Given the description of an element on the screen output the (x, y) to click on. 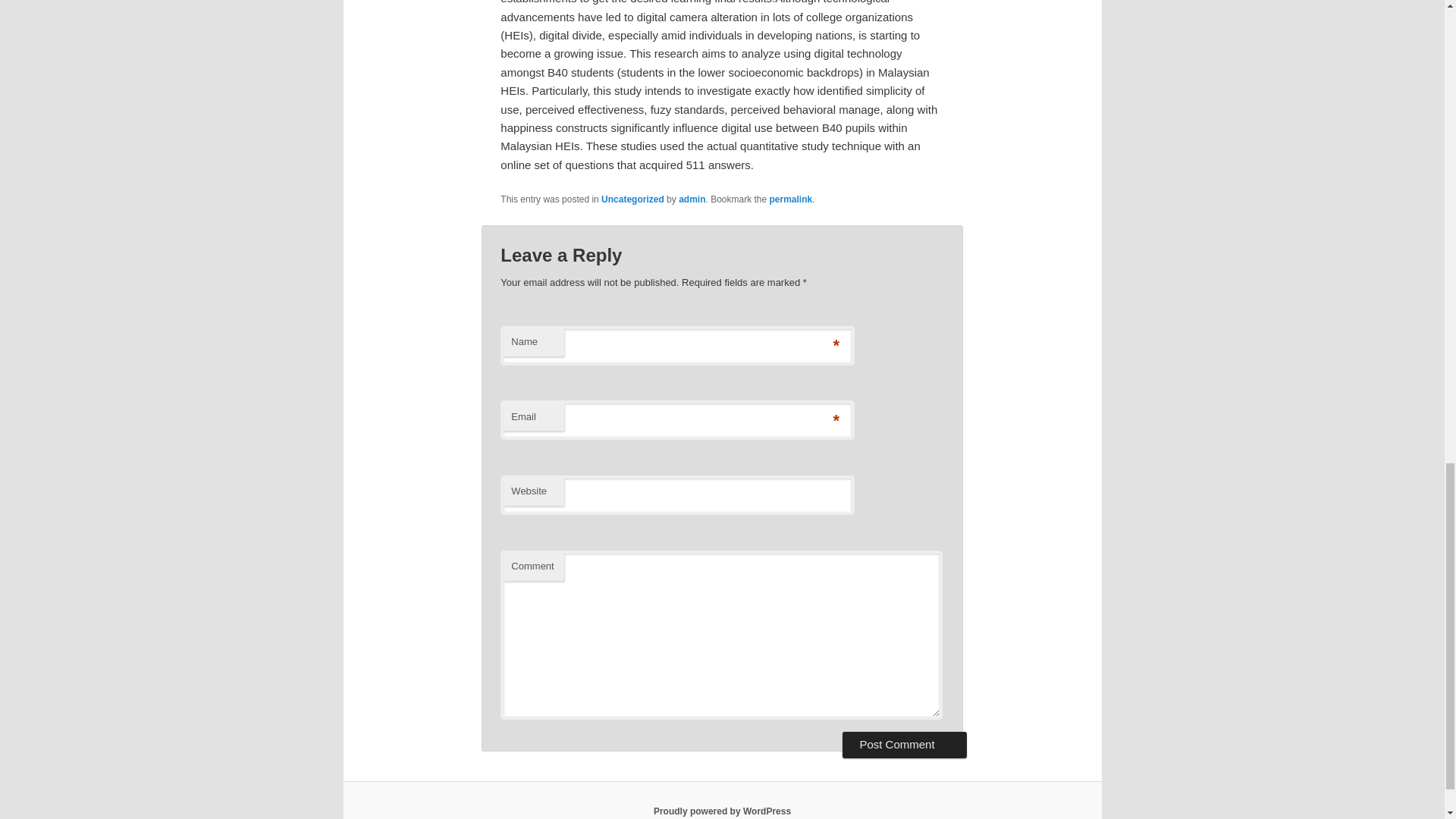
Semantic Personal Publishing Platform (721, 810)
Proudly powered by WordPress (721, 810)
Uncategorized (632, 199)
permalink (791, 199)
View all posts in Uncategorized (632, 199)
Post Comment (904, 744)
Post Comment (904, 744)
admin (691, 199)
